Given the description of an element on the screen output the (x, y) to click on. 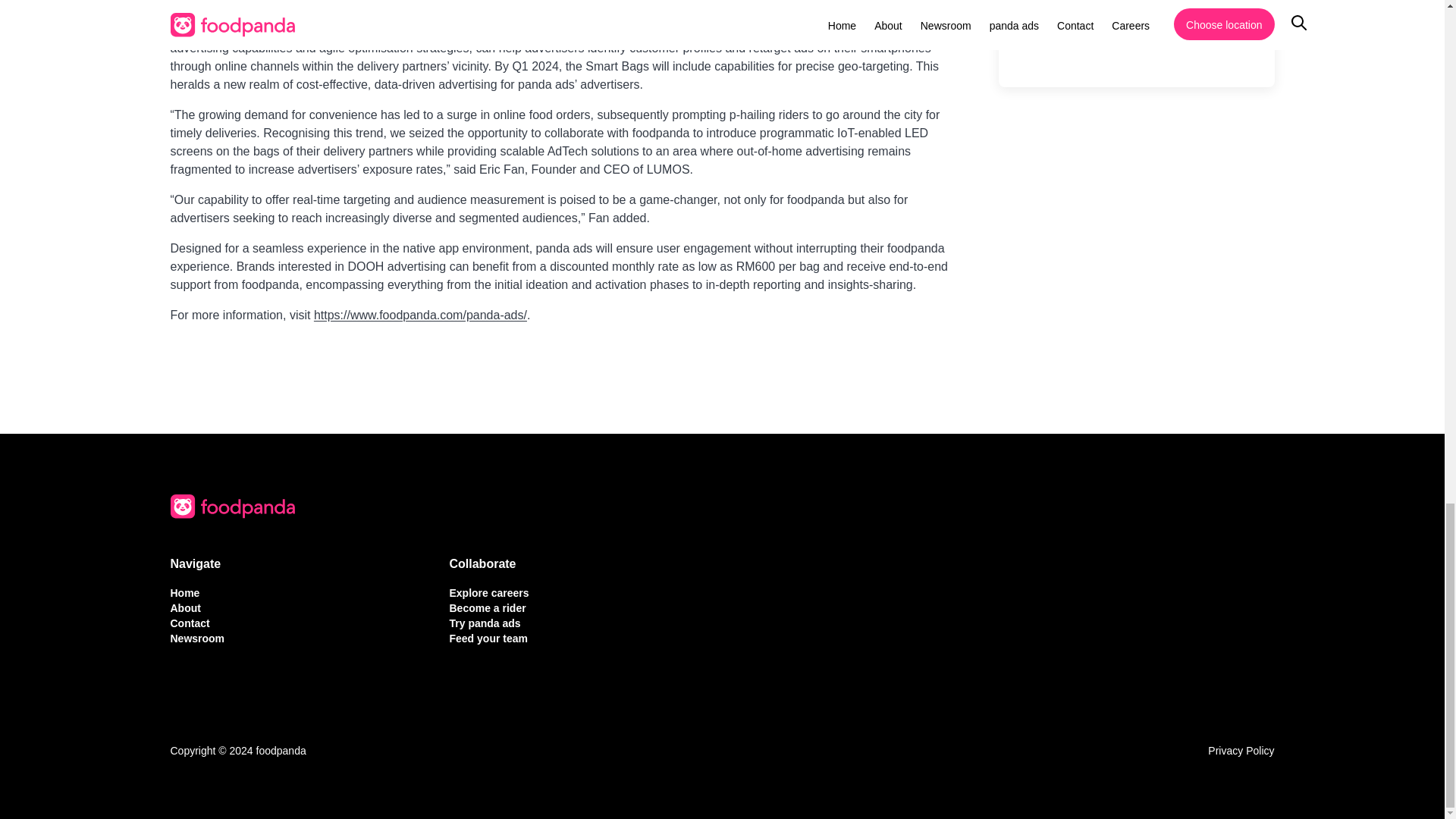
foodpanda instagram (1064, 54)
foodpanda linkedin (1025, 54)
Feed your team with foodpanda corporate (487, 638)
foodpanda facebook (1104, 54)
